Given the description of an element on the screen output the (x, y) to click on. 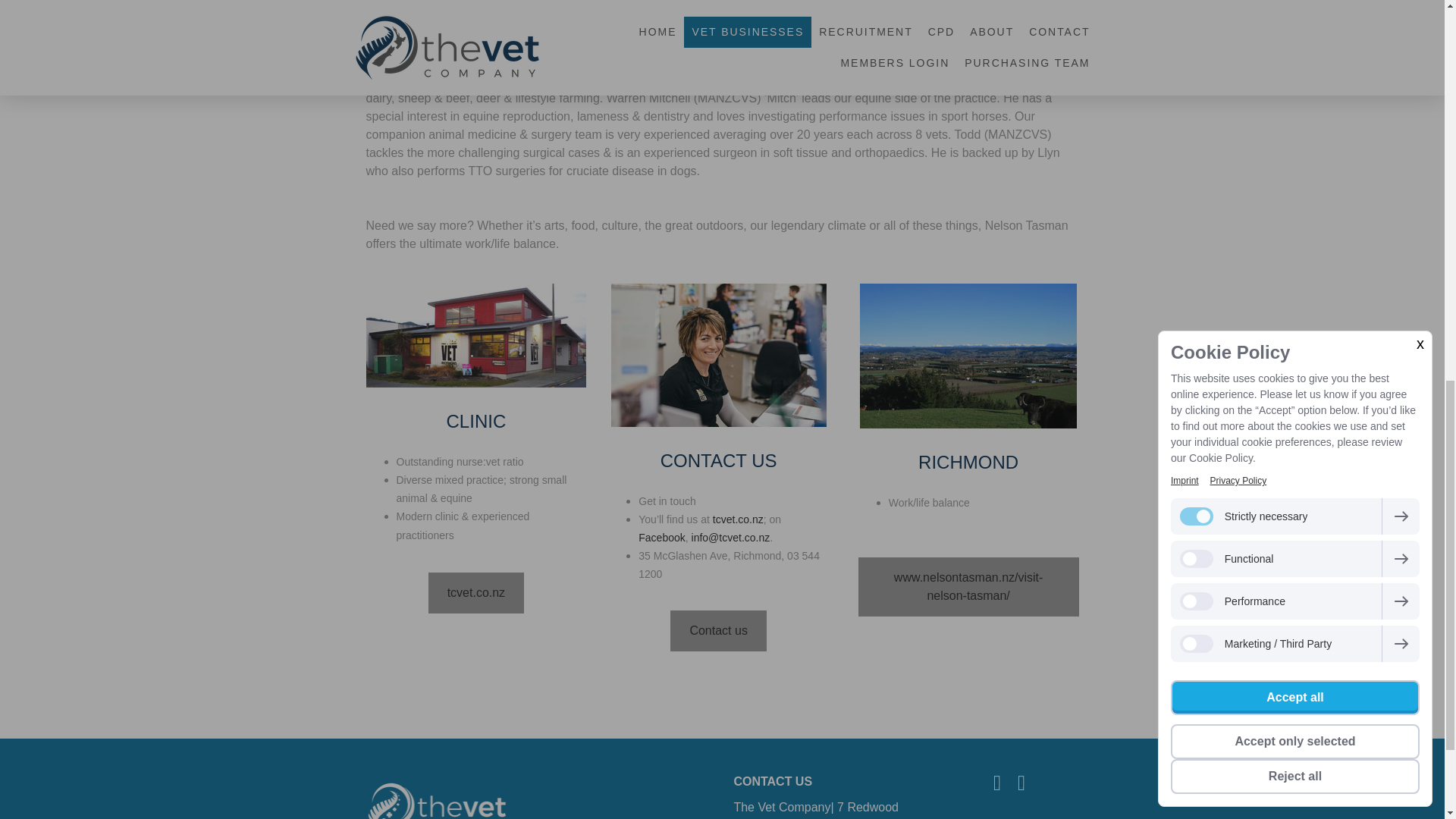
Facebook (997, 783)
Email (1021, 783)
